Given the description of an element on the screen output the (x, y) to click on. 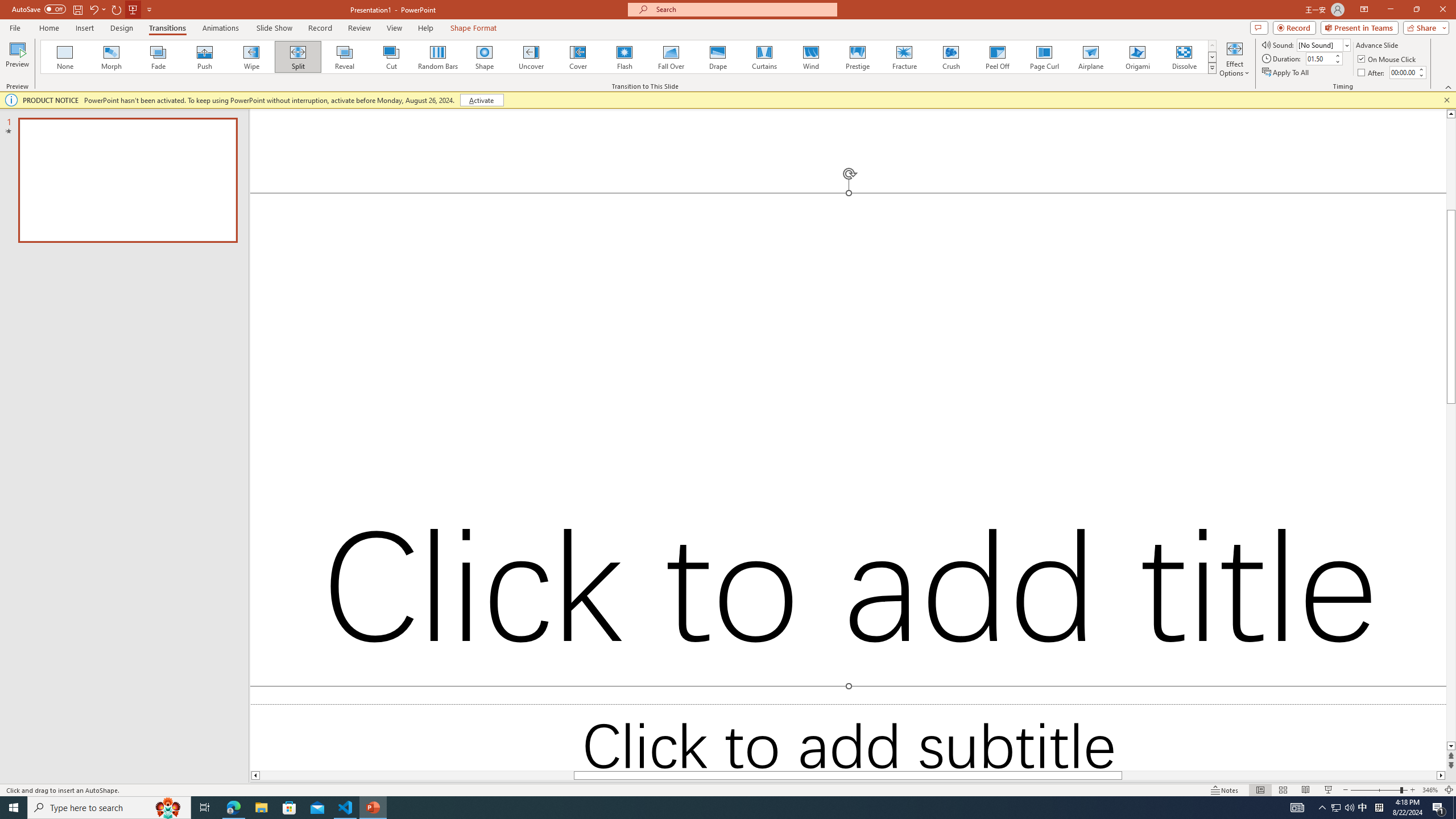
Shading RGB(0, 0, 0) (558, 102)
Ribbon Display Options (1436, 125)
Styles... (1034, 128)
Increase Indent (537, 77)
Strikethrough (177, 102)
Distributed (496, 102)
